Given the description of an element on the screen output the (x, y) to click on. 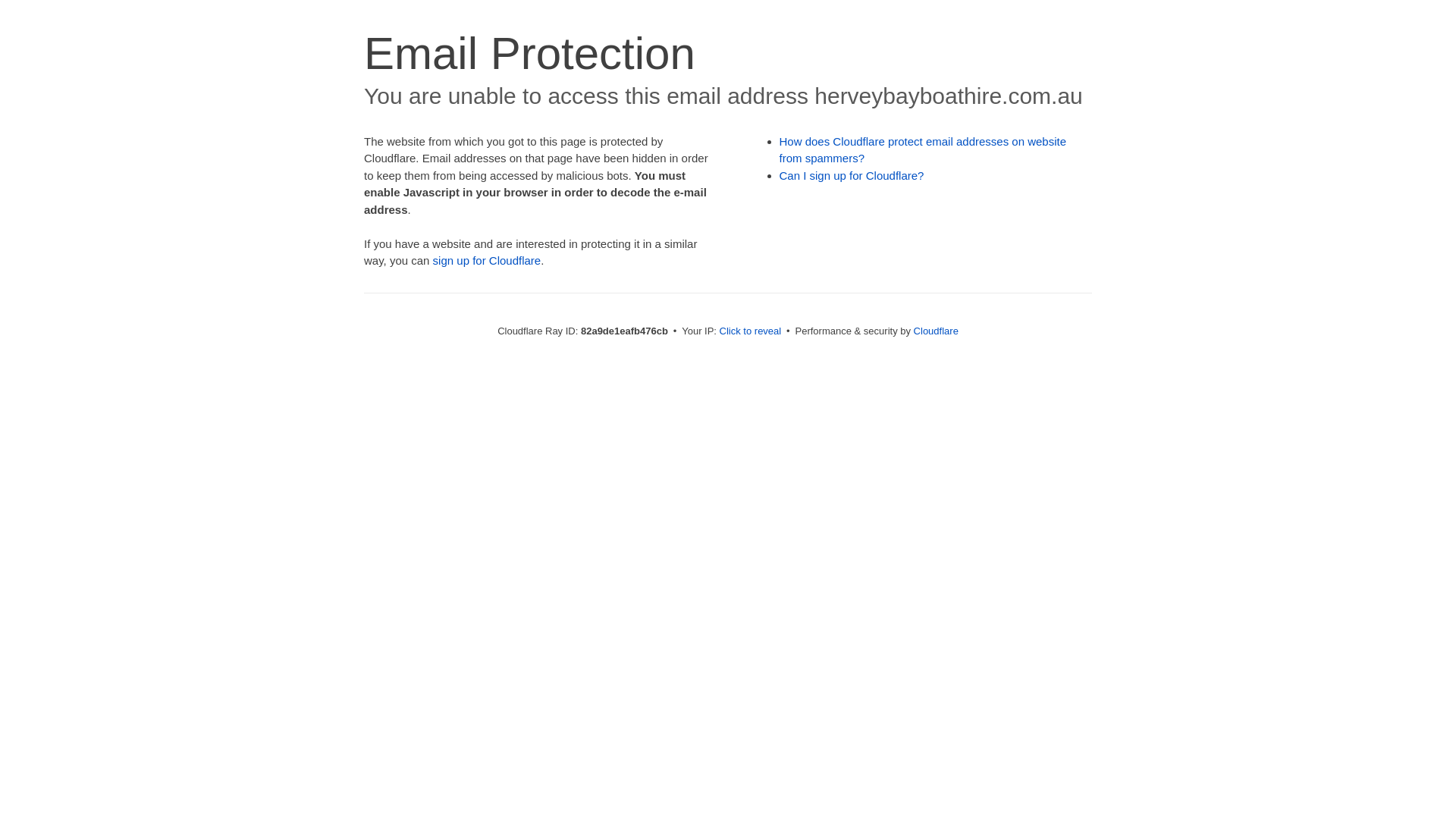
Click to reveal Element type: text (750, 330)
Can I sign up for Cloudflare? Element type: text (851, 175)
sign up for Cloudflare Element type: text (487, 260)
Cloudflare Element type: text (935, 330)
